Given the description of an element on the screen output the (x, y) to click on. 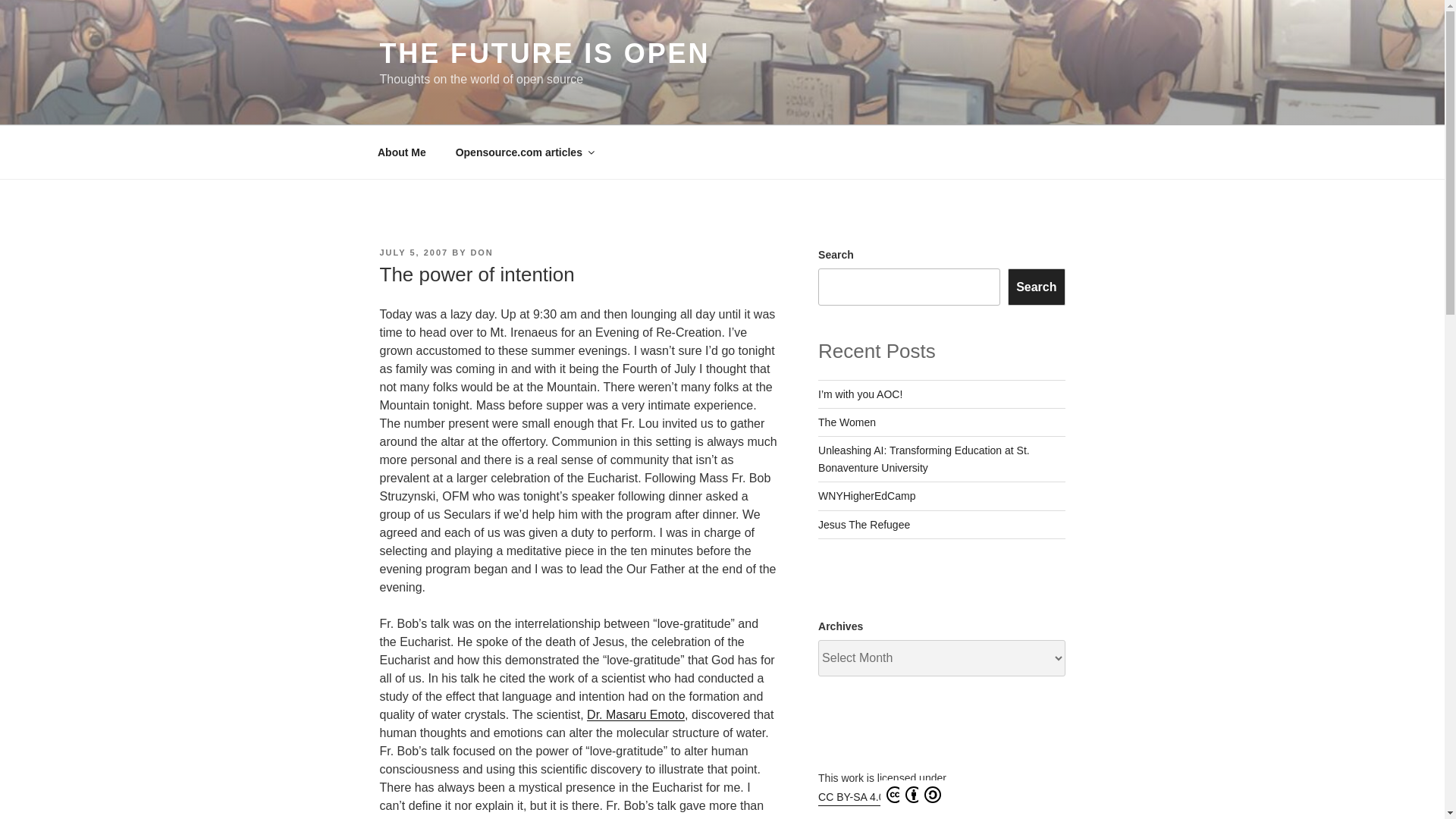
DON (481, 252)
Search (1035, 286)
CC BY-SA 4.0 (879, 795)
JULY 5, 2007 (413, 252)
The Women (847, 422)
THE FUTURE IS OPEN (544, 52)
About Me (401, 151)
Dr. Masaru Emoto (635, 714)
WNYHigherEdCamp (866, 495)
Jesus The Refugee (864, 524)
Opensource.com articles (523, 151)
